Given the description of an element on the screen output the (x, y) to click on. 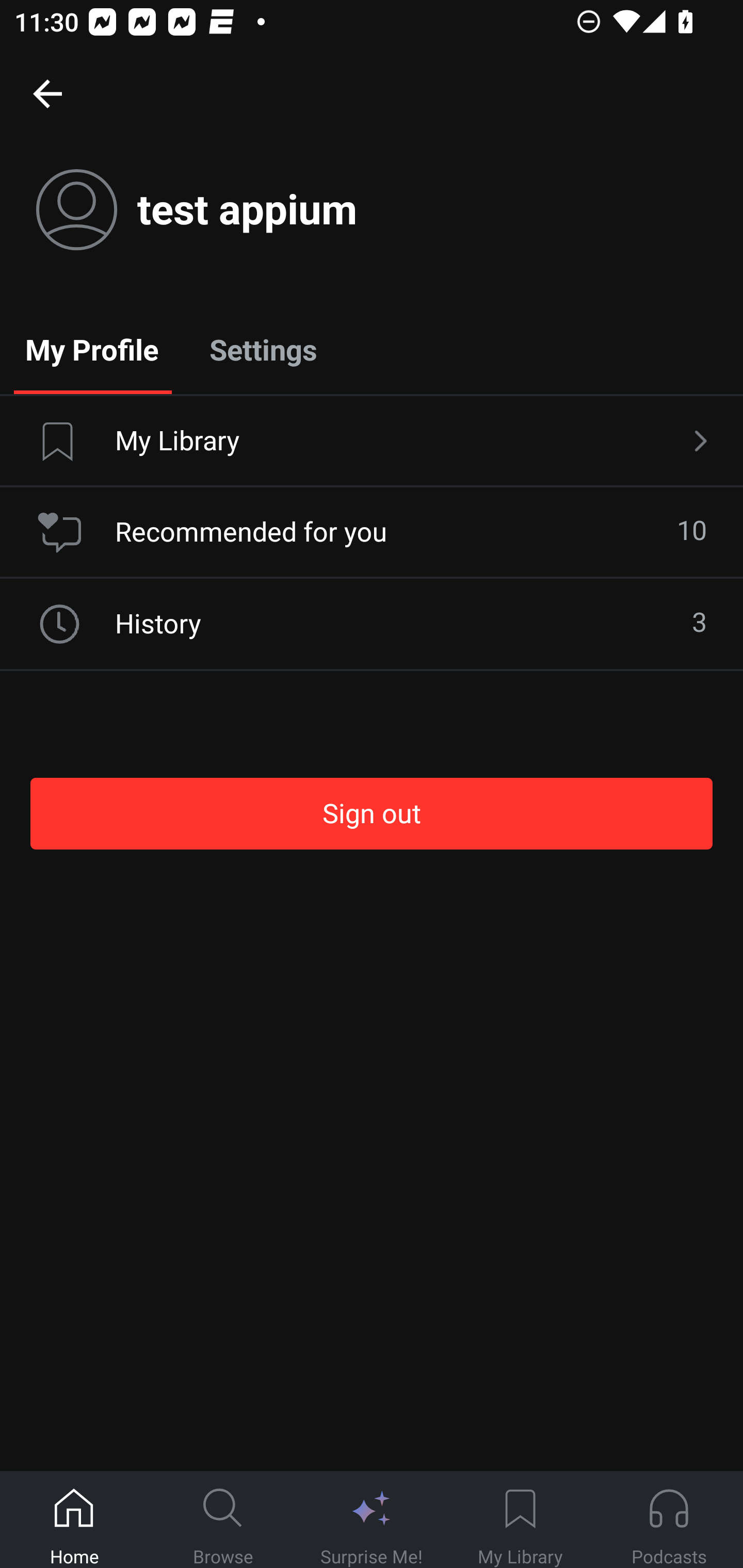
Home, back (47, 92)
My Profile (92, 348)
Settings (263, 348)
My Library (371, 441)
Recommended for you 10 (371, 532)
History 3 (371, 623)
Sign out (371, 813)
Home (74, 1520)
Browse (222, 1520)
Surprise Me! (371, 1520)
My Library (519, 1520)
Podcasts (668, 1520)
